Given the description of an element on the screen output the (x, y) to click on. 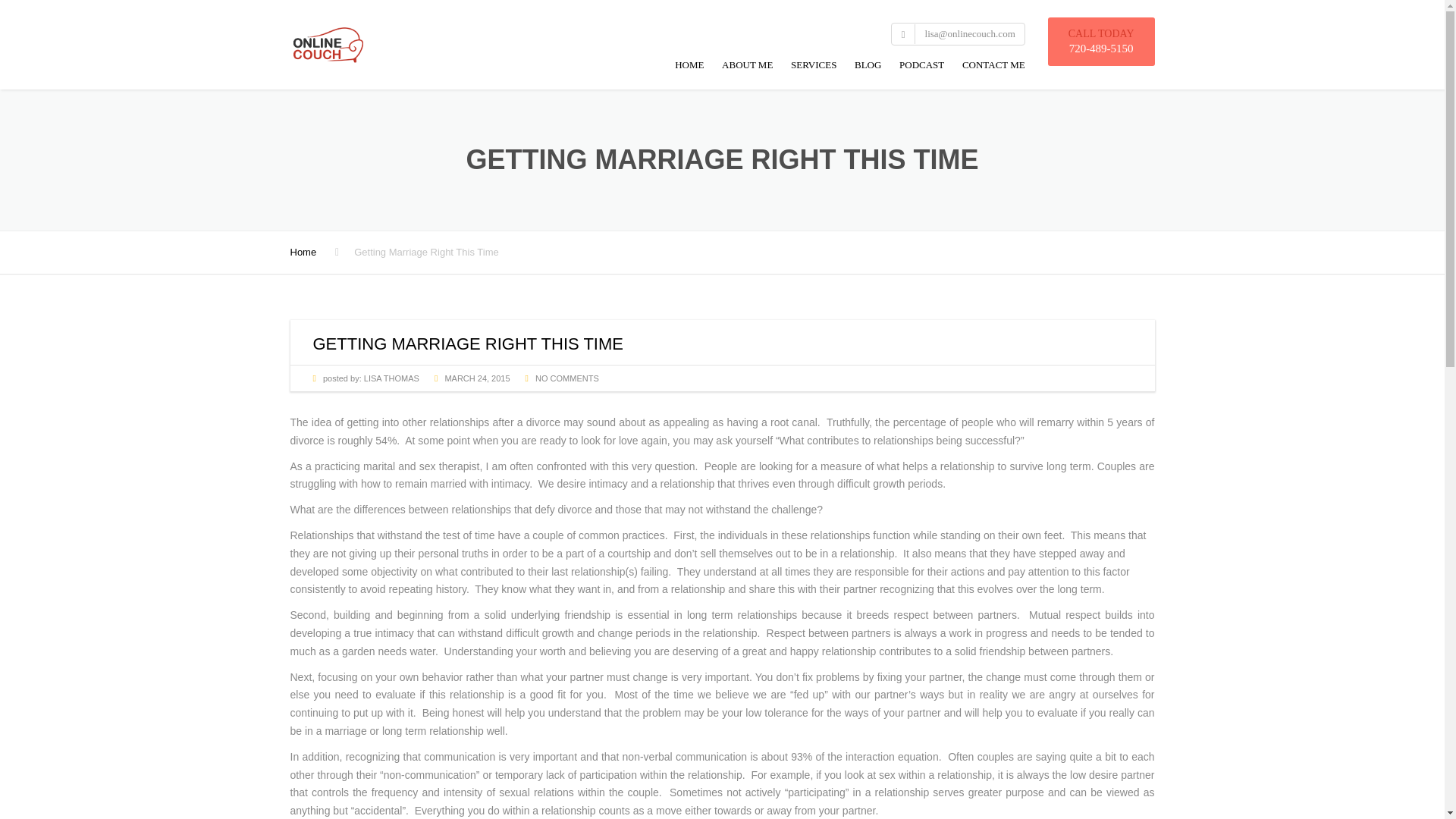
PODCAST (921, 68)
Home (302, 251)
HOME (688, 68)
SERVICES (813, 68)
ABOUT ME (747, 68)
CONTACT ME (990, 68)
